Given the description of an element on the screen output the (x, y) to click on. 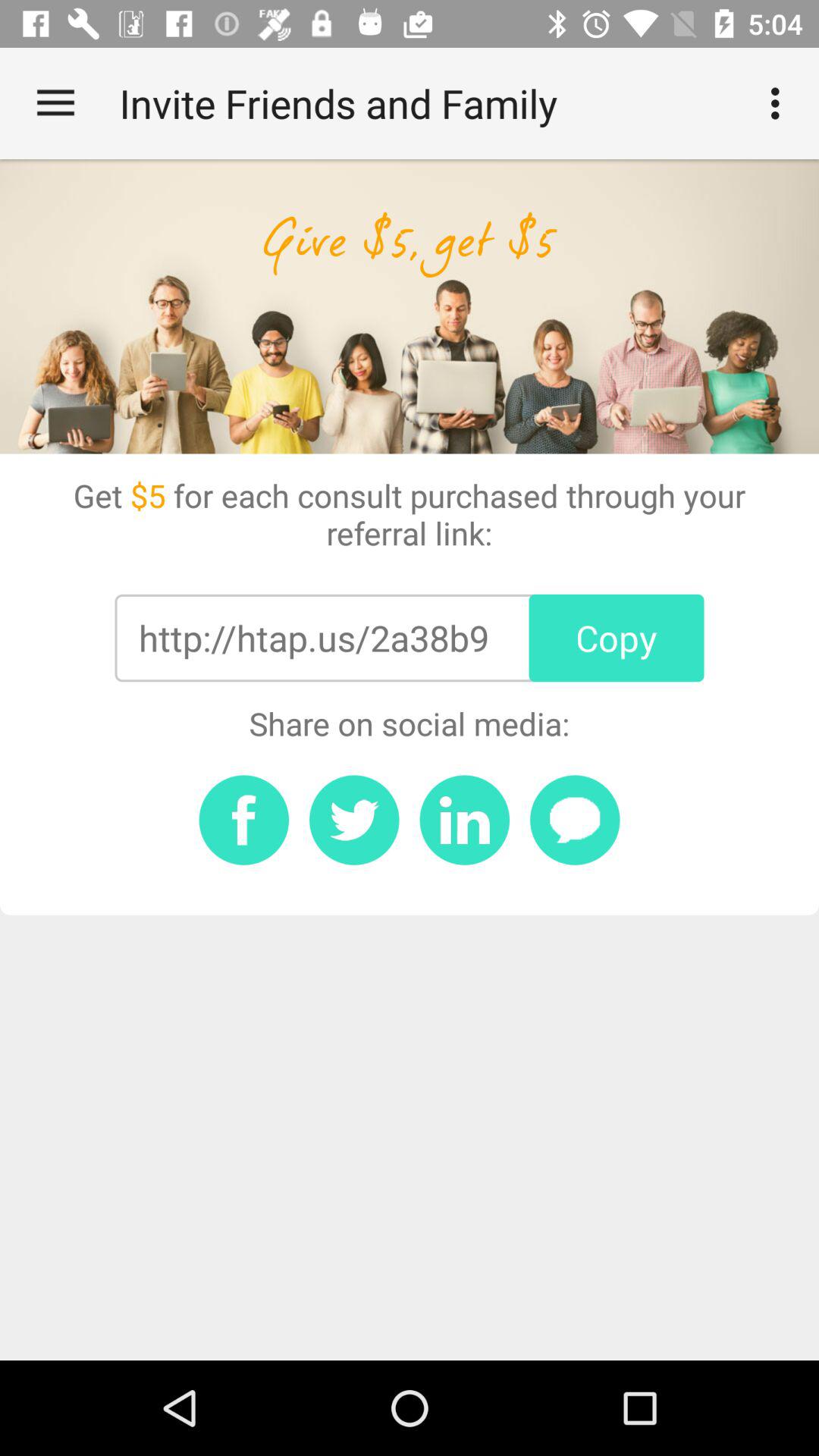
turn on the item at the top right corner (779, 103)
